Given the description of an element on the screen output the (x, y) to click on. 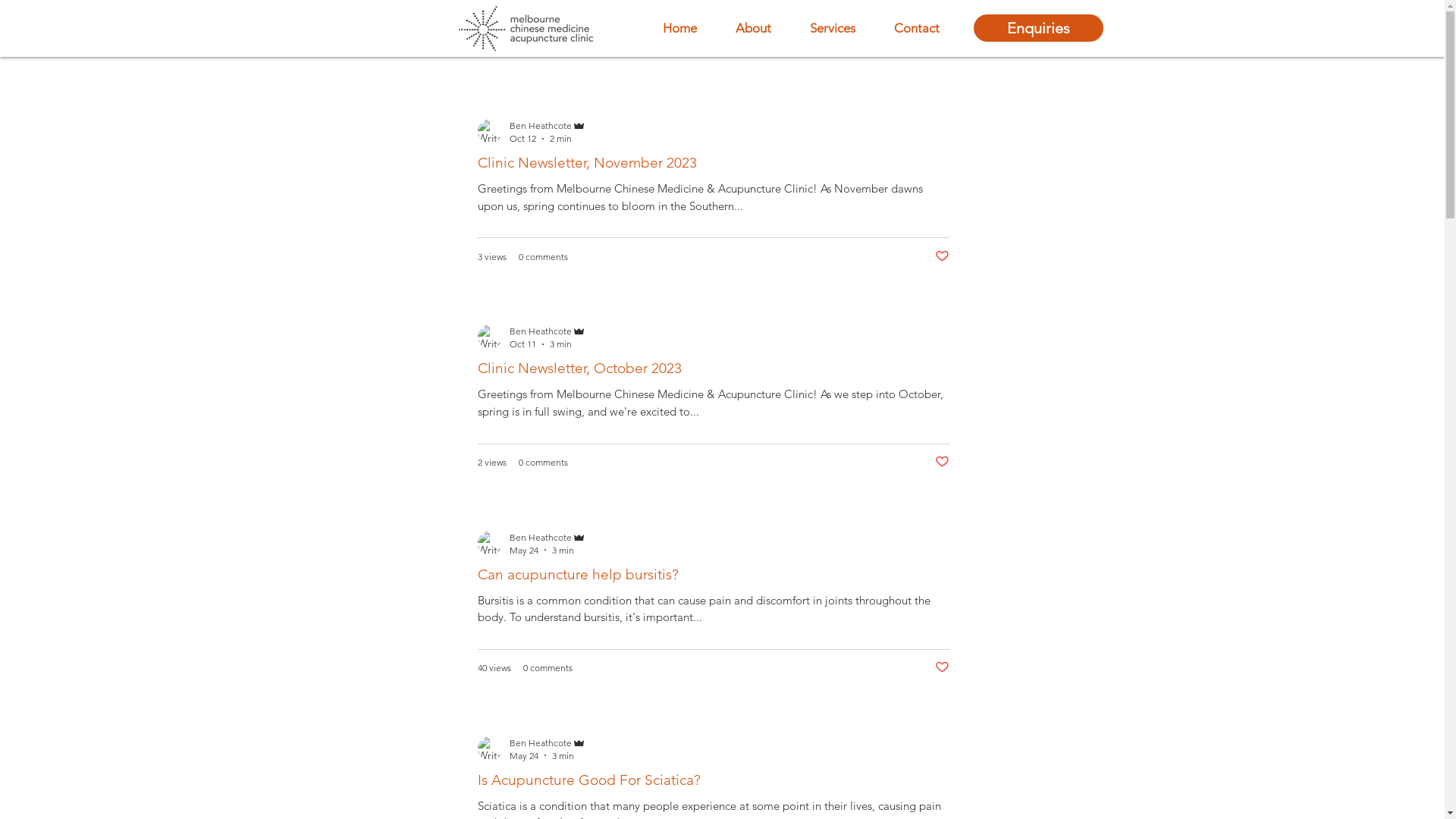
0 comments Element type: text (542, 461)
Melbourne Chinese Medicine & Acupuncture Clinic Element type: hover (523, 28)
Services Element type: text (832, 27)
Post not marked as liked Element type: text (941, 256)
Post not marked as liked Element type: text (941, 667)
About Element type: text (752, 27)
Clinic Newsletter, October 2023 Element type: text (713, 371)
Home Element type: text (679, 27)
0 comments Element type: text (547, 667)
Enquiries Element type: text (1038, 27)
Clinic Newsletter, November 2023 Element type: text (713, 166)
Is Acupuncture Good For Sciatica? Element type: text (713, 783)
0 comments Element type: text (542, 256)
Post not marked as liked Element type: text (941, 462)
Contact Element type: text (916, 27)
Can acupuncture help bursitis? Element type: text (713, 577)
